Given the description of an element on the screen output the (x, y) to click on. 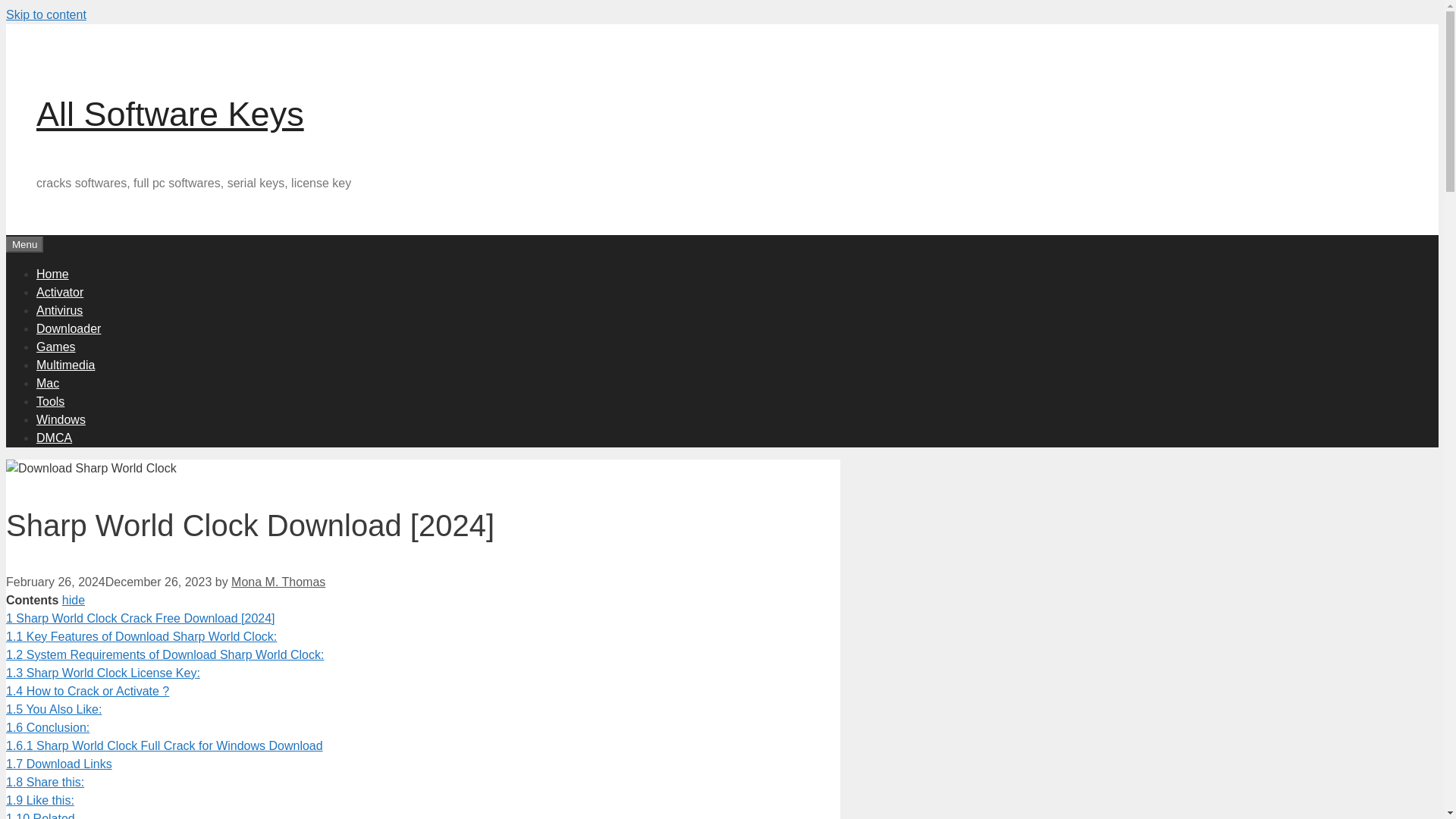
1.7 Download Links (58, 763)
1.1 Key Features of Download Sharp World Clock: (140, 635)
All Software Keys (170, 114)
1.10 Related (40, 815)
Mona M. Thomas (277, 581)
Tools (50, 400)
1.5 You Also Like: (53, 708)
Activator (59, 291)
Downloader (68, 327)
Antivirus (59, 309)
Windows (60, 418)
Mac (47, 382)
1.8 Share this: (44, 781)
Multimedia (65, 364)
Skip to content (45, 14)
